Given the description of an element on the screen output the (x, y) to click on. 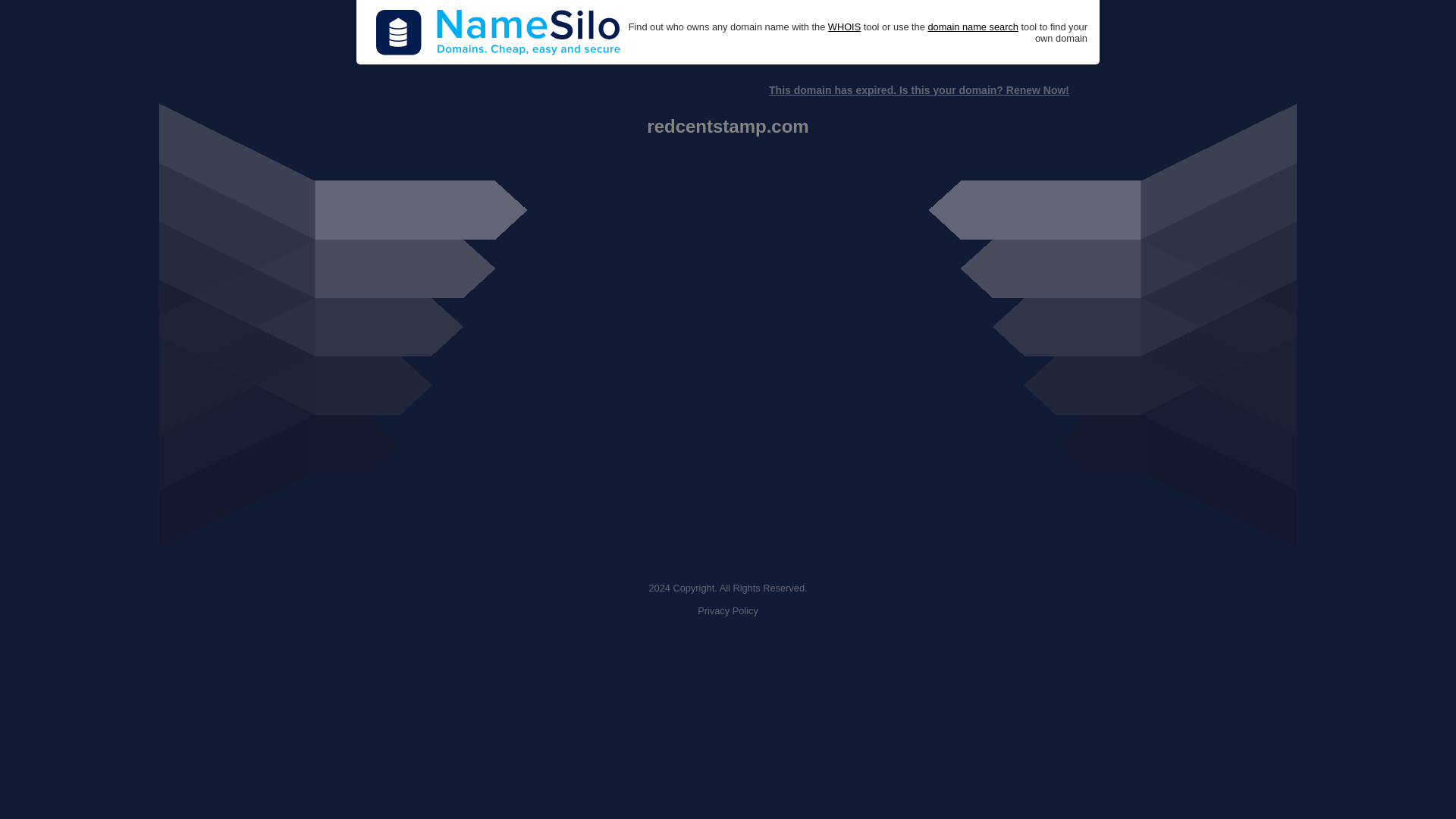
domain name search (972, 26)
Privacy Policy (727, 610)
WHOIS (844, 26)
This domain has expired. Is this your domain? Renew Now! (918, 90)
